Given the description of an element on the screen output the (x, y) to click on. 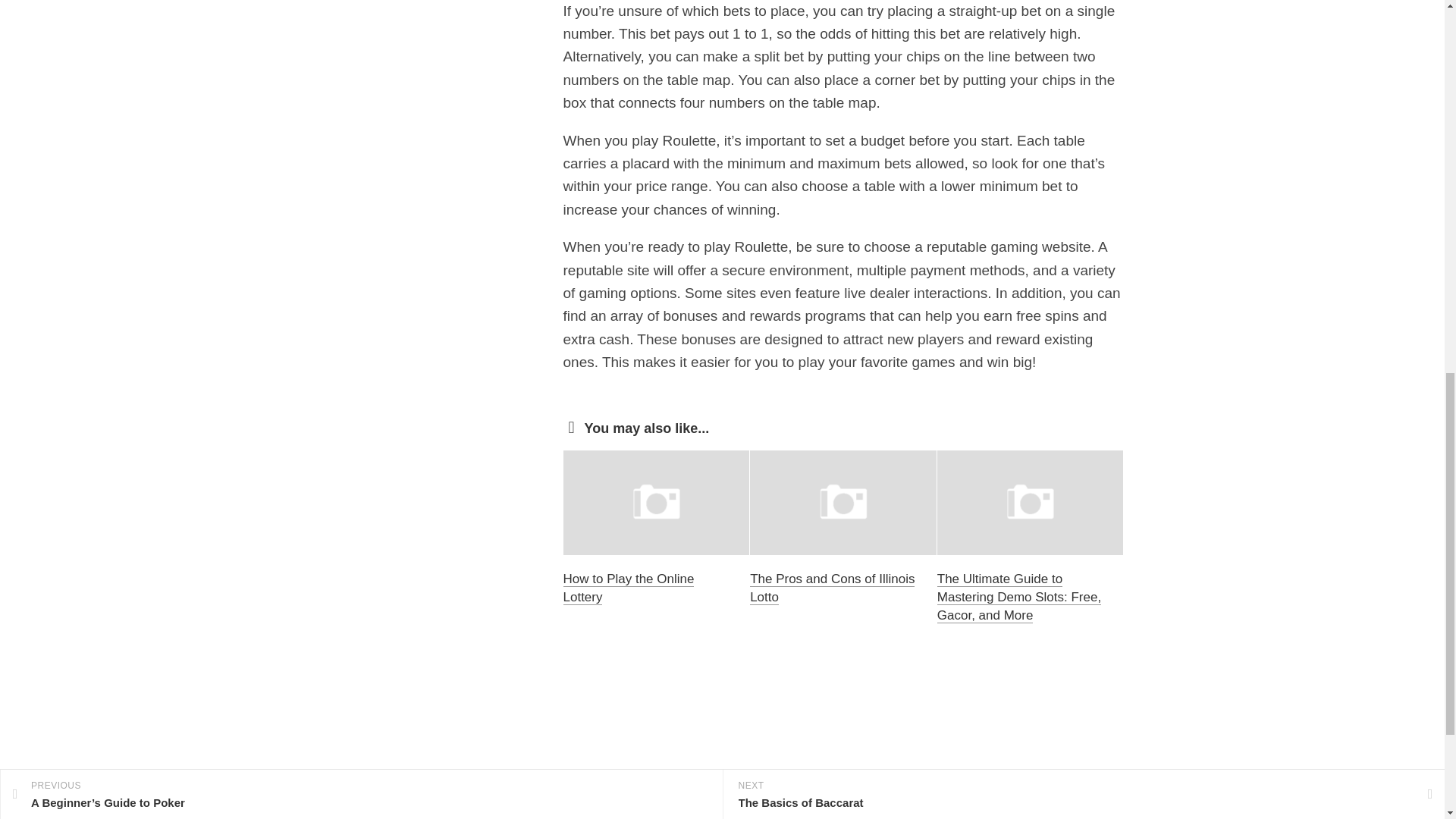
How to Play the Online Lottery (628, 587)
The Pros and Cons of Illinois Lotto (831, 587)
